Given the description of an element on the screen output the (x, y) to click on. 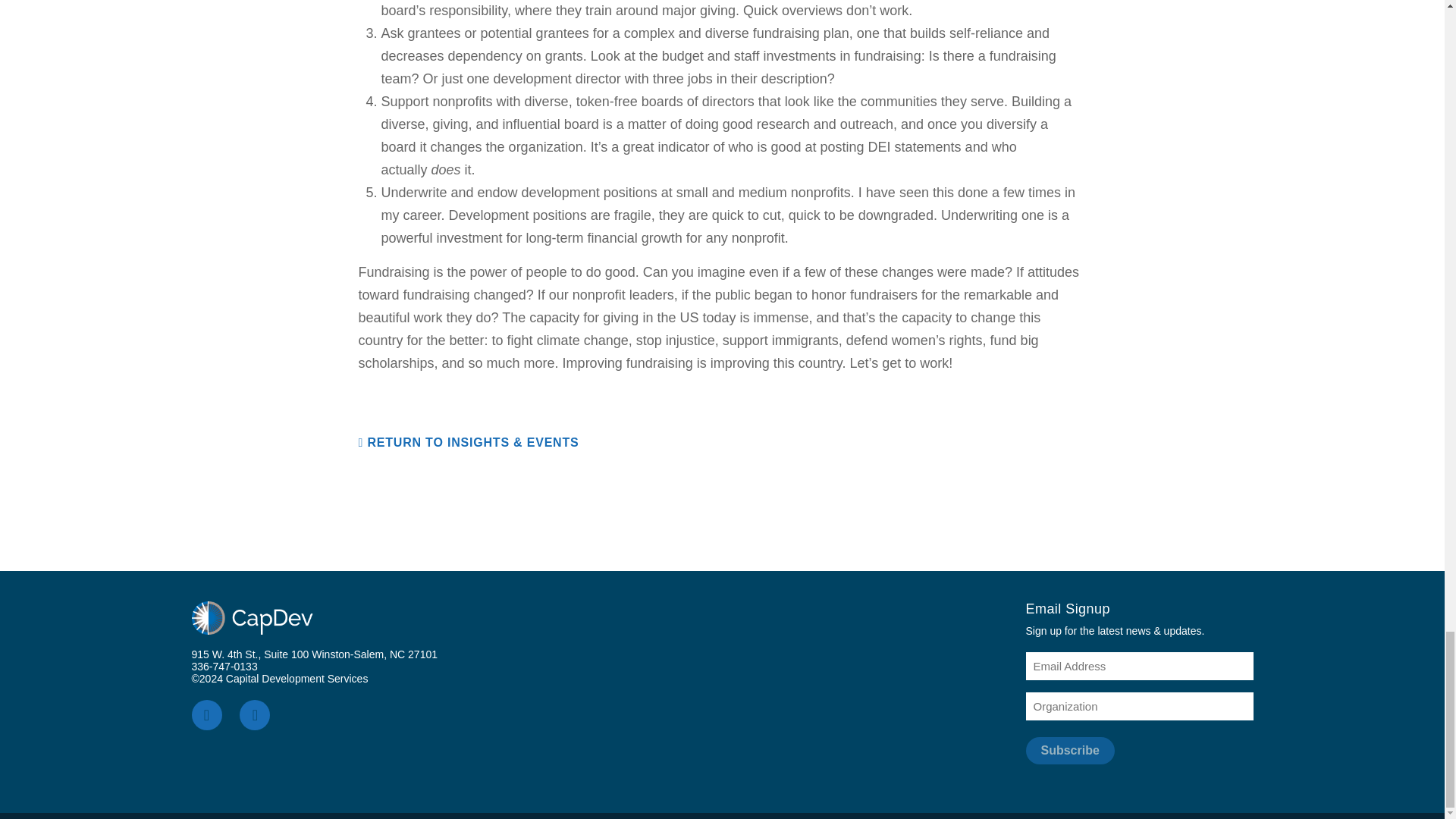
Subscribe (1069, 750)
336-747-0133 (223, 666)
